Given the description of an element on the screen output the (x, y) to click on. 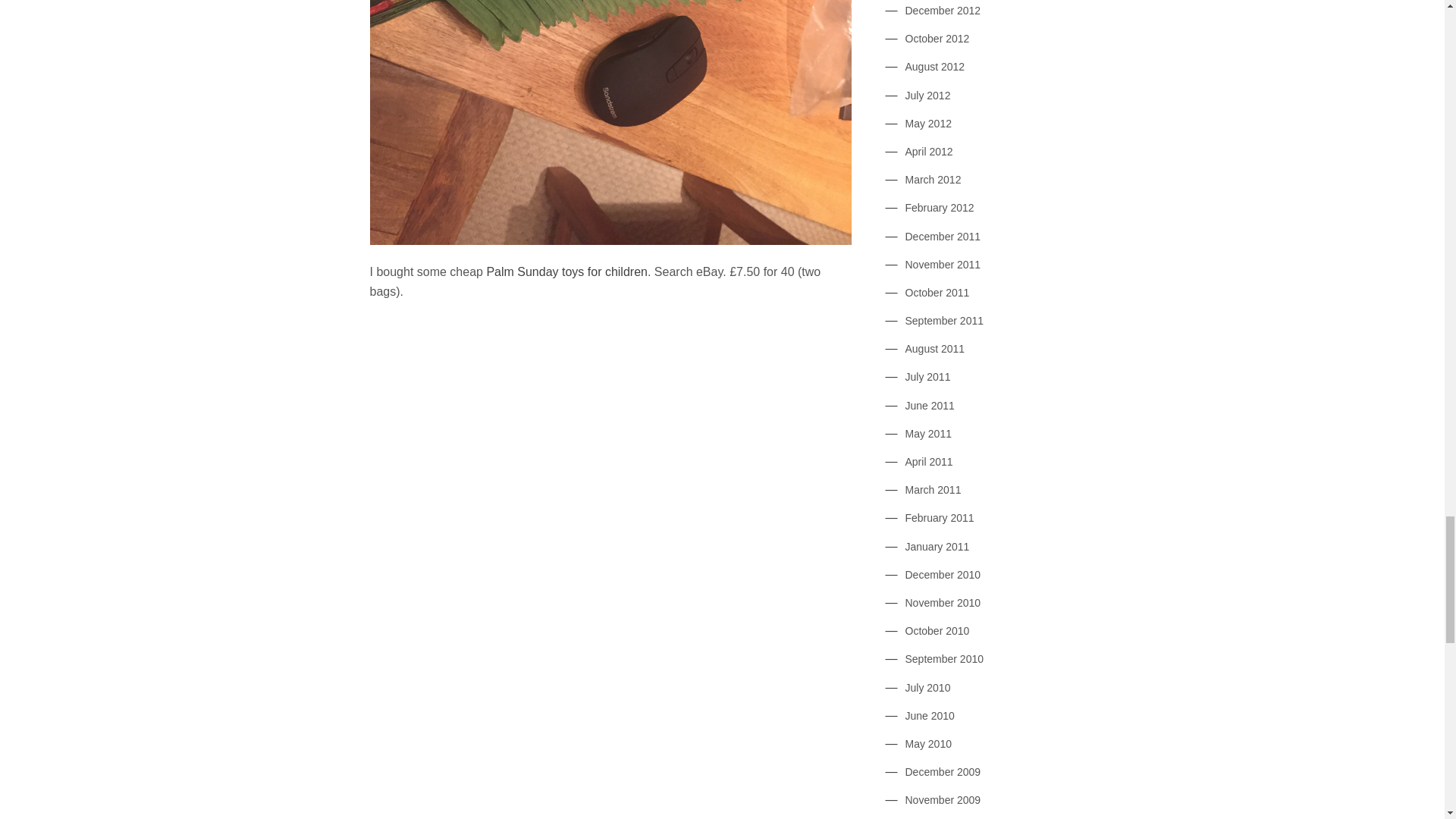
Palm Sunday toys for children (566, 271)
